Given the description of an element on the screen output the (x, y) to click on. 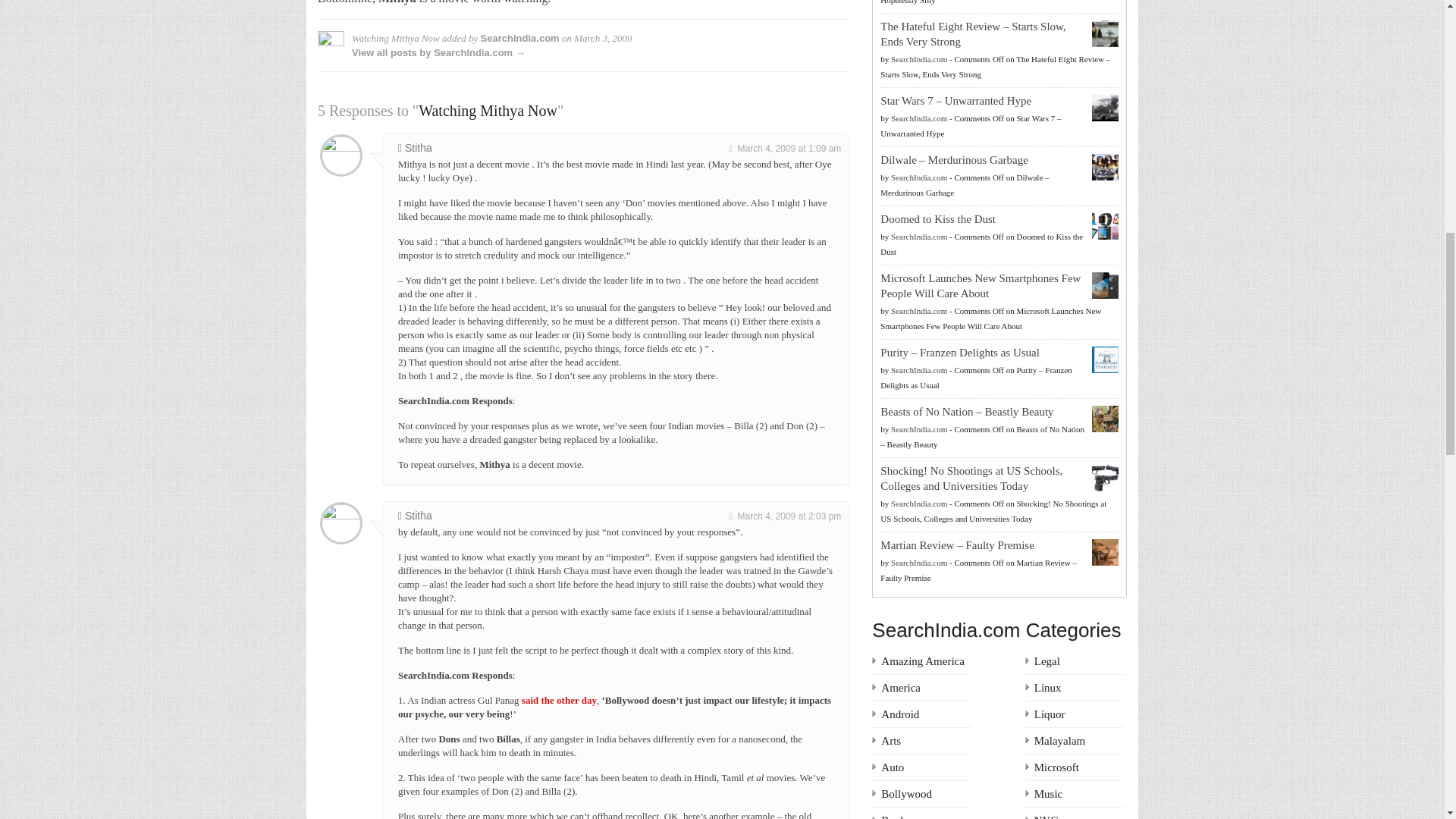
said the other day (558, 699)
SearchIndia.com (519, 38)
